Given the description of an element on the screen output the (x, y) to click on. 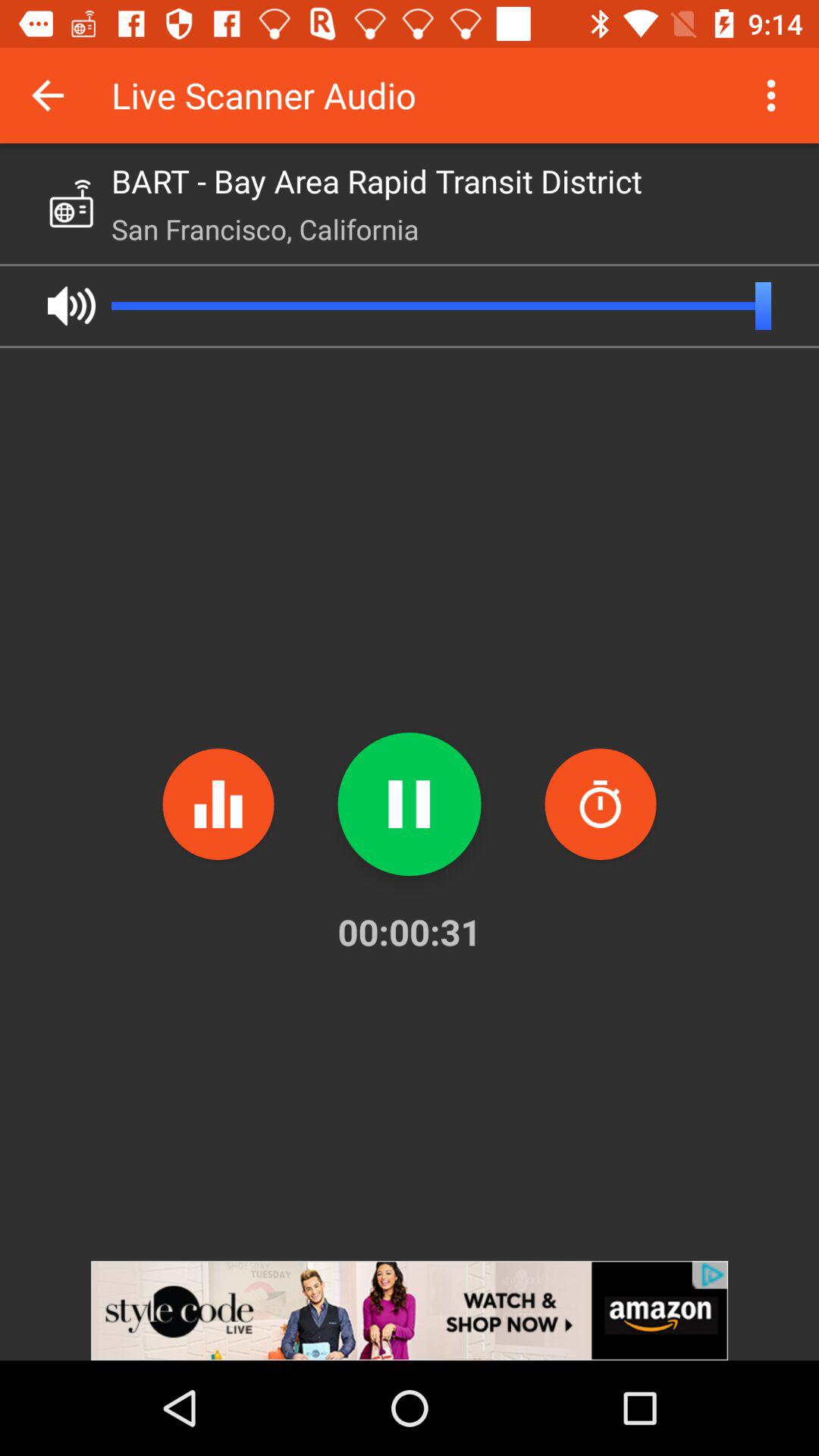
volume (71, 305)
